Given the description of an element on the screen output the (x, y) to click on. 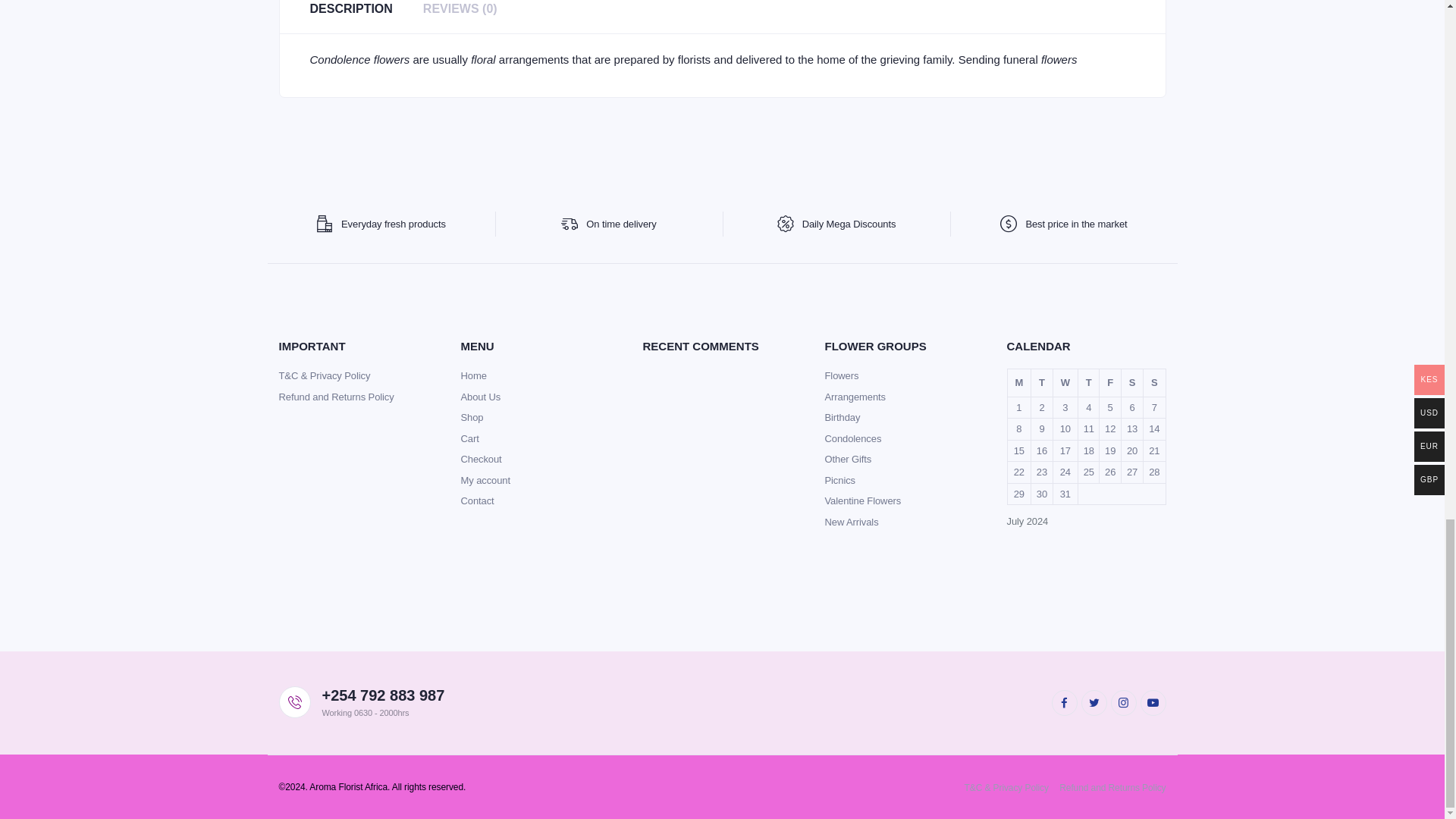
Monday (1018, 383)
Tuesday (1041, 383)
